Given the description of an element on the screen output the (x, y) to click on. 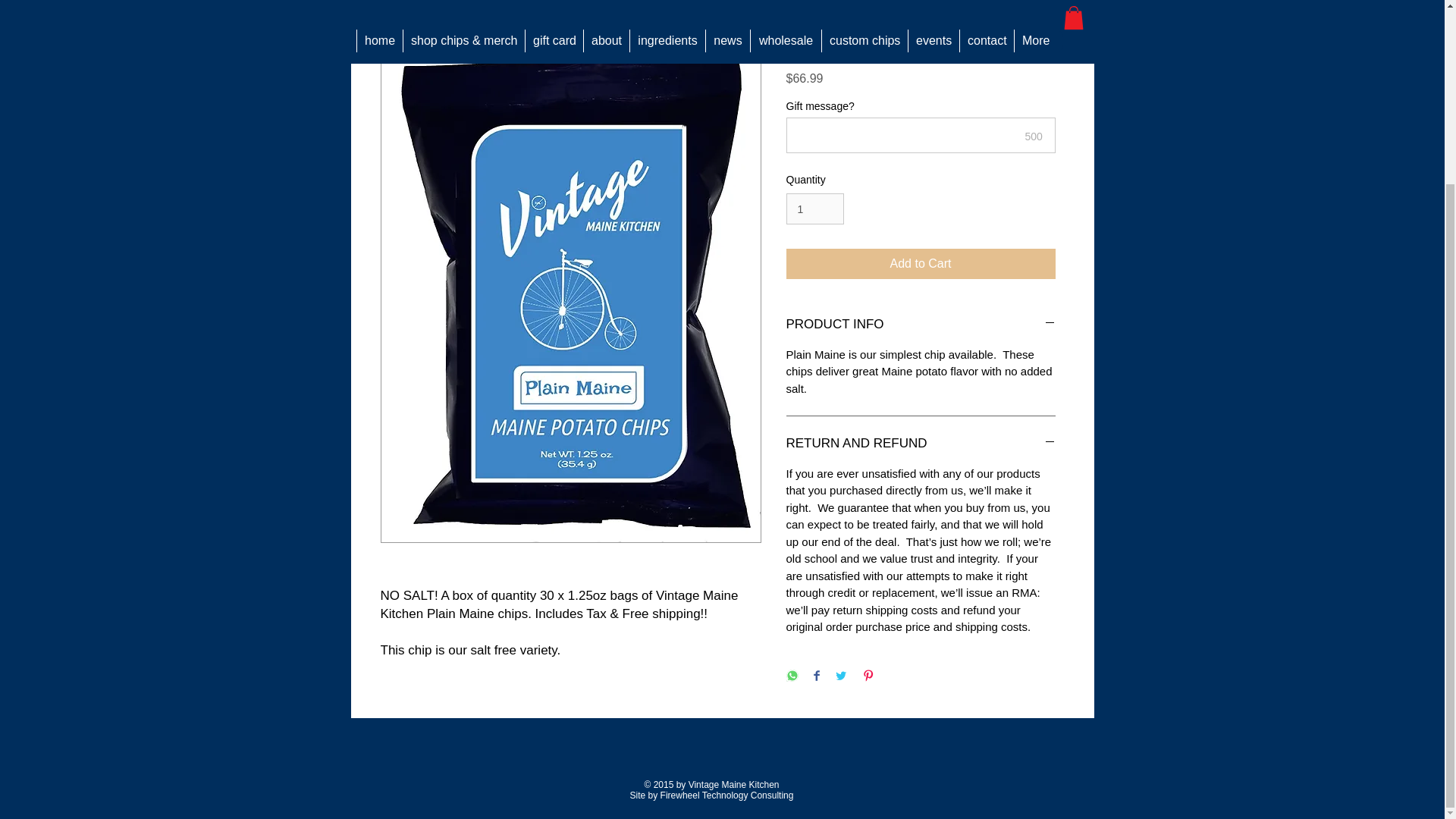
Add to Cart (920, 263)
RETURN AND REFUND (920, 443)
PRODUCT INFO (920, 324)
1 (814, 208)
